Given the description of an element on the screen output the (x, y) to click on. 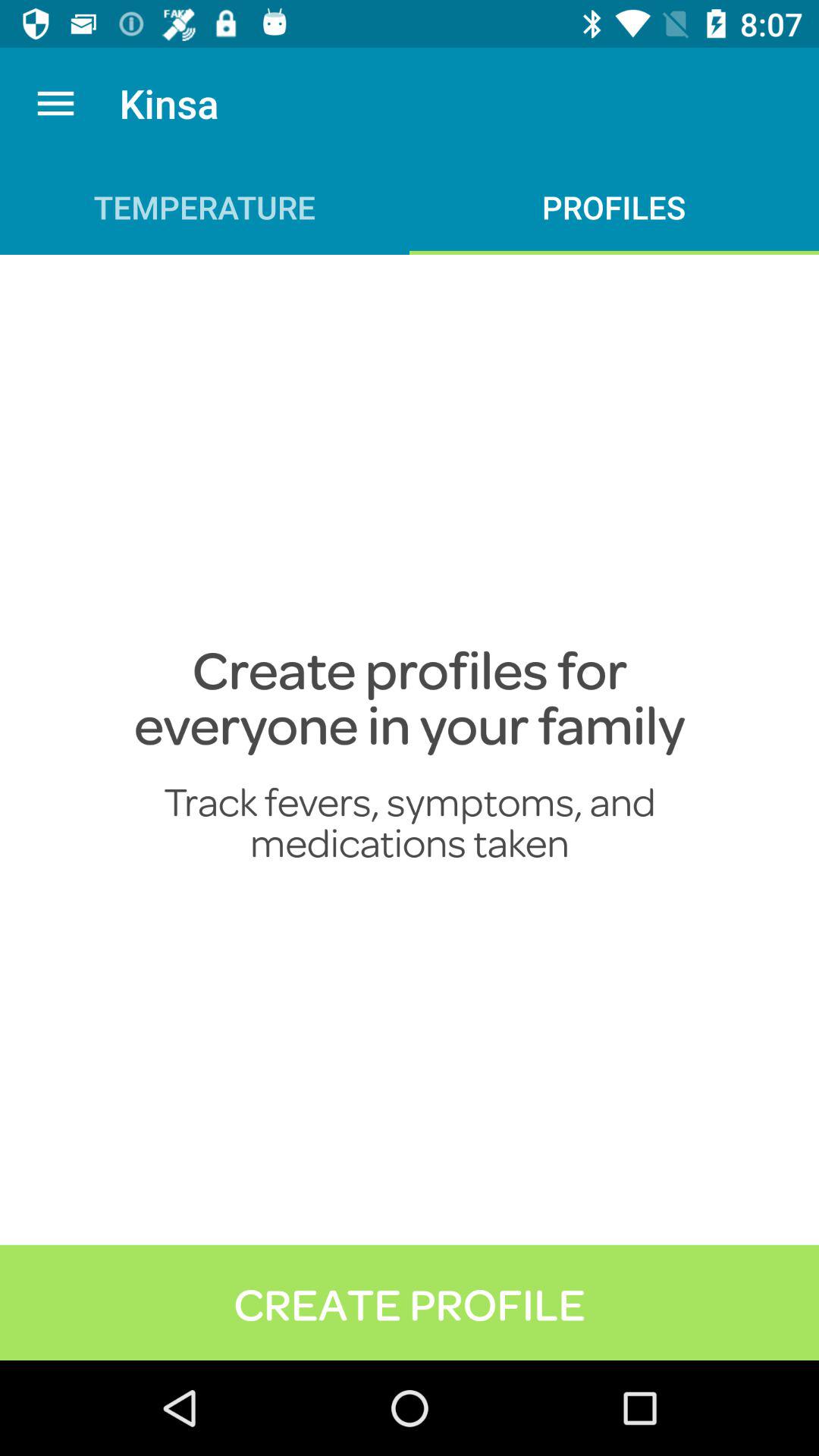
scroll until the create profile icon (409, 1302)
